Given the description of an element on the screen output the (x, y) to click on. 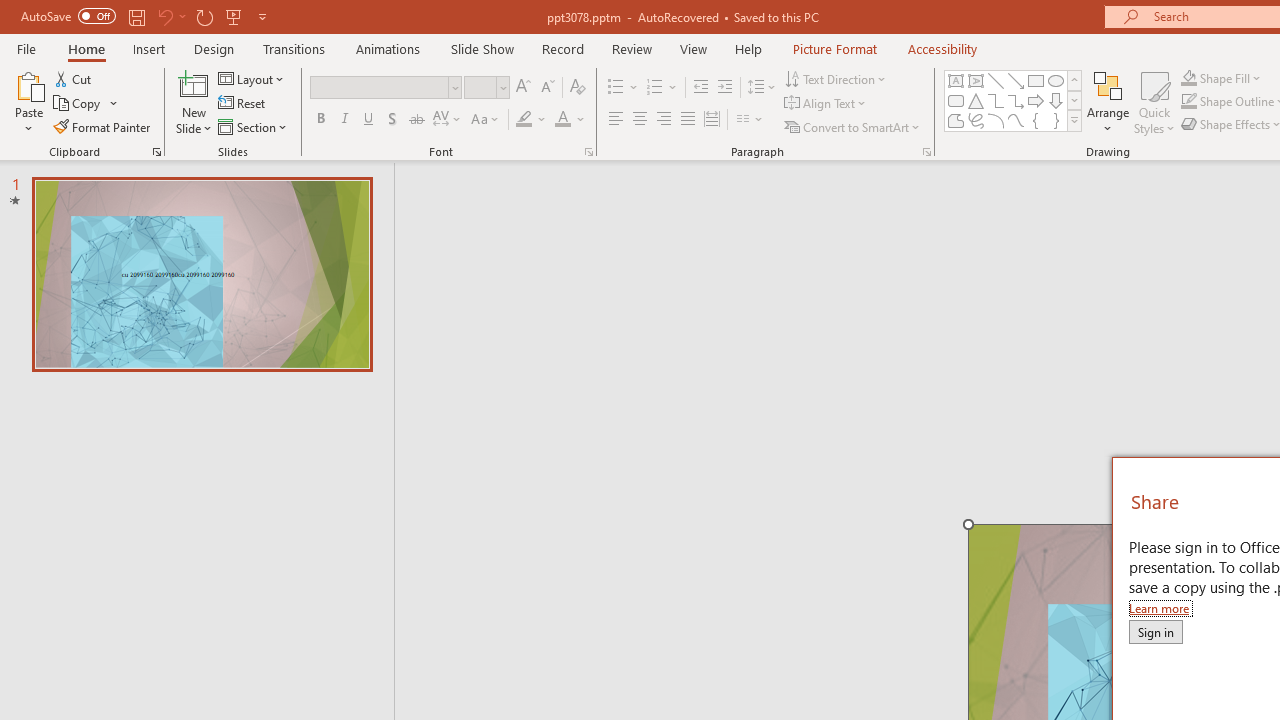
Line Arrow (1016, 80)
Line (995, 80)
Shape Fill (1221, 78)
Text Direction (836, 78)
Clear Formatting (577, 87)
Rectangle: Rounded Corners (955, 100)
Underline (369, 119)
Shape Outline Green, Accent 1 (1188, 101)
Sign in (1155, 631)
Connector: Elbow (995, 100)
